Given the description of an element on the screen output the (x, y) to click on. 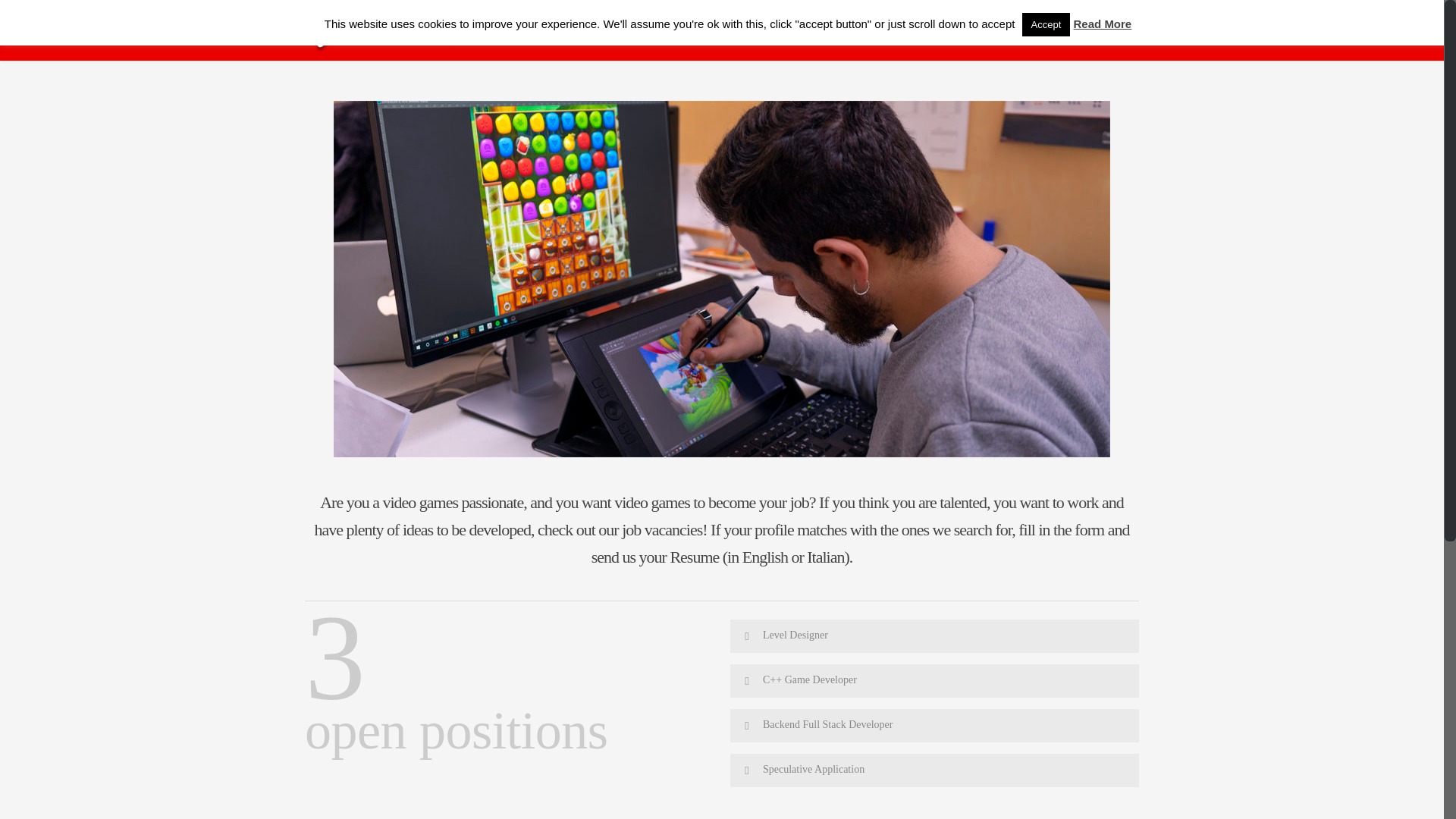
Contact Us (956, 36)
Level Designer (934, 635)
Speculative Application (934, 770)
Backend Full Stack Developer (934, 725)
